Given the description of an element on the screen output the (x, y) to click on. 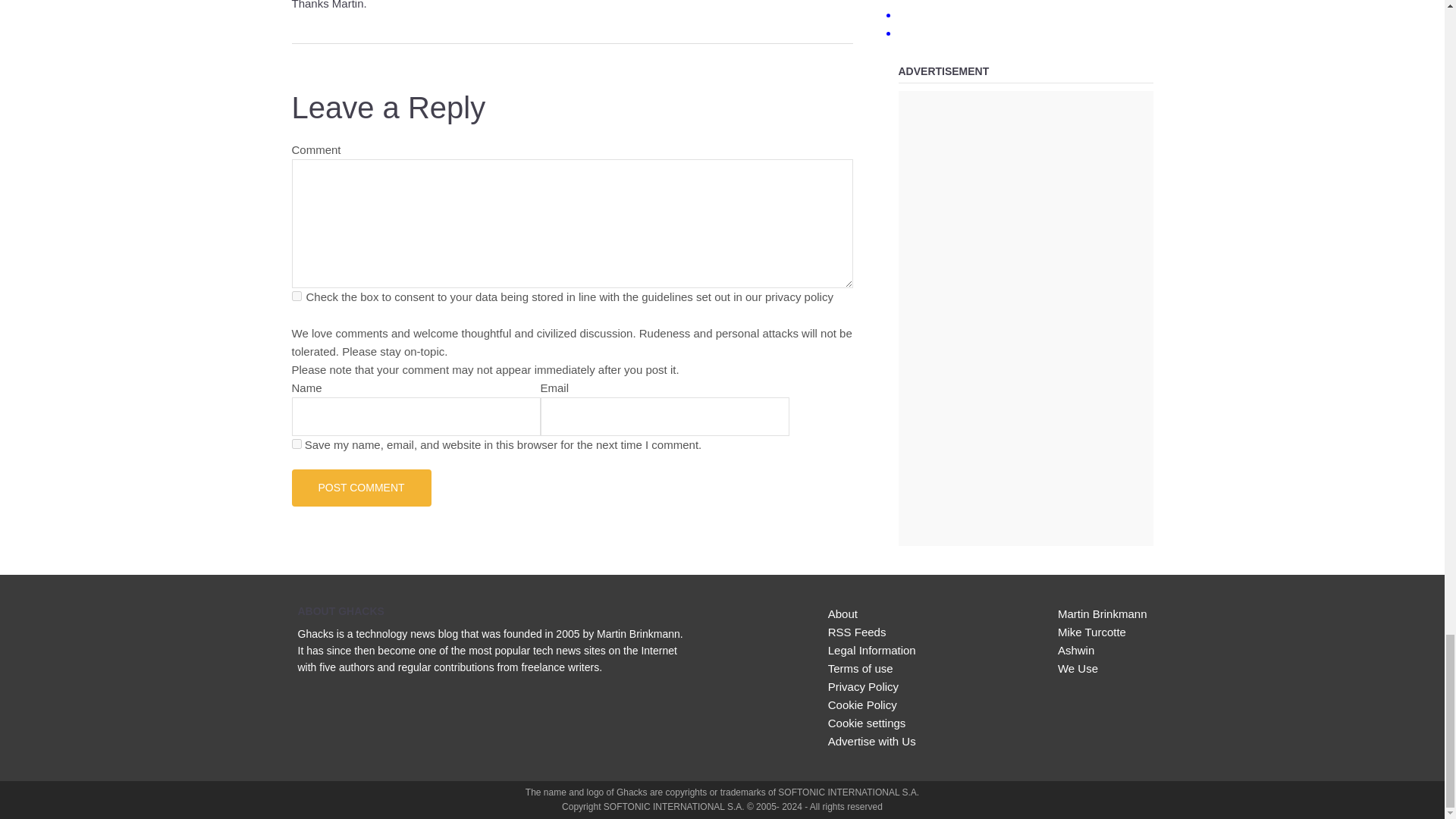
Post Comment (360, 487)
yes (296, 443)
privacy-key (296, 296)
